Given the description of an element on the screen output the (x, y) to click on. 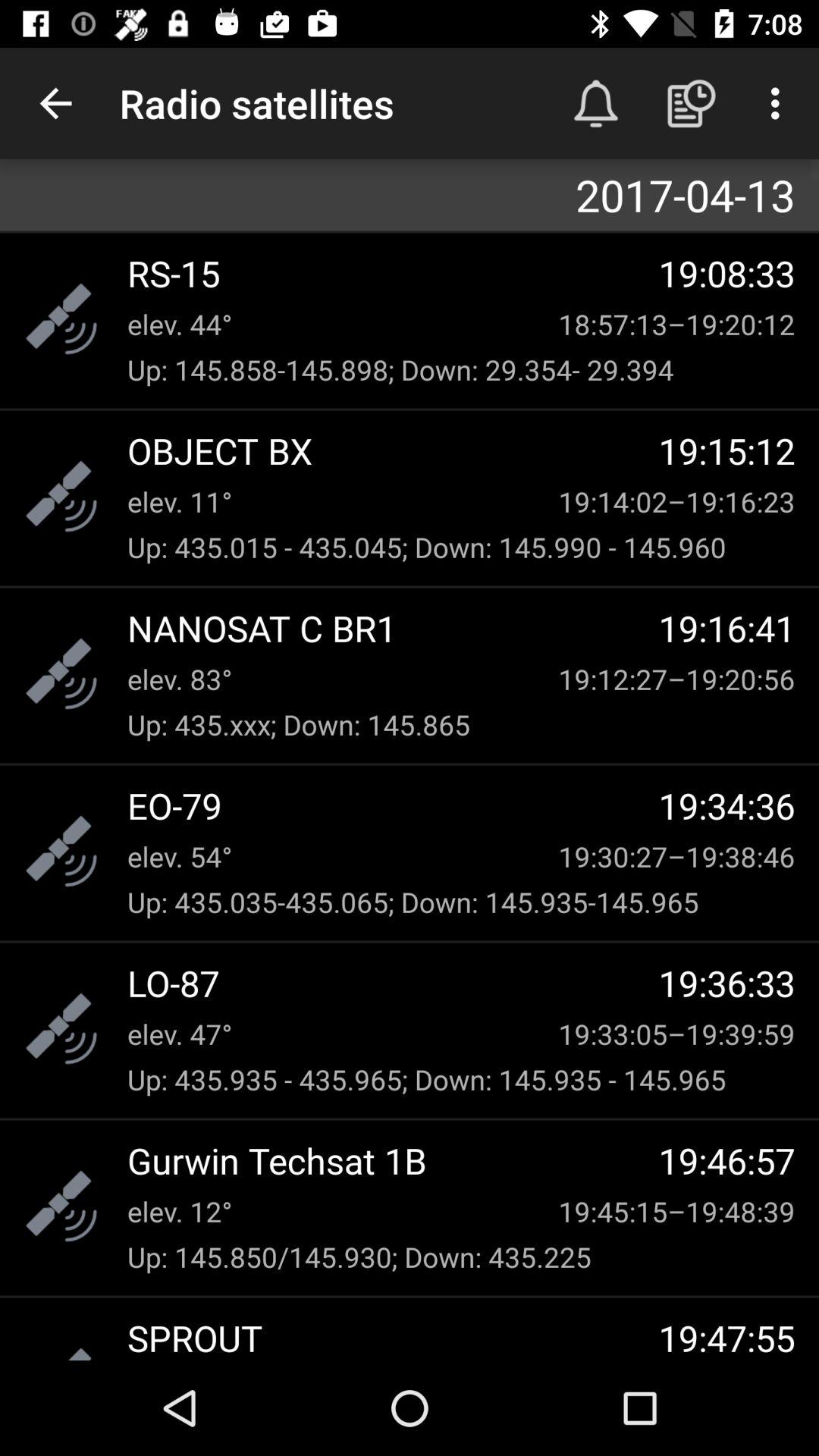
tap the gurwin techsat 1b (392, 1160)
